Given the description of an element on the screen output the (x, y) to click on. 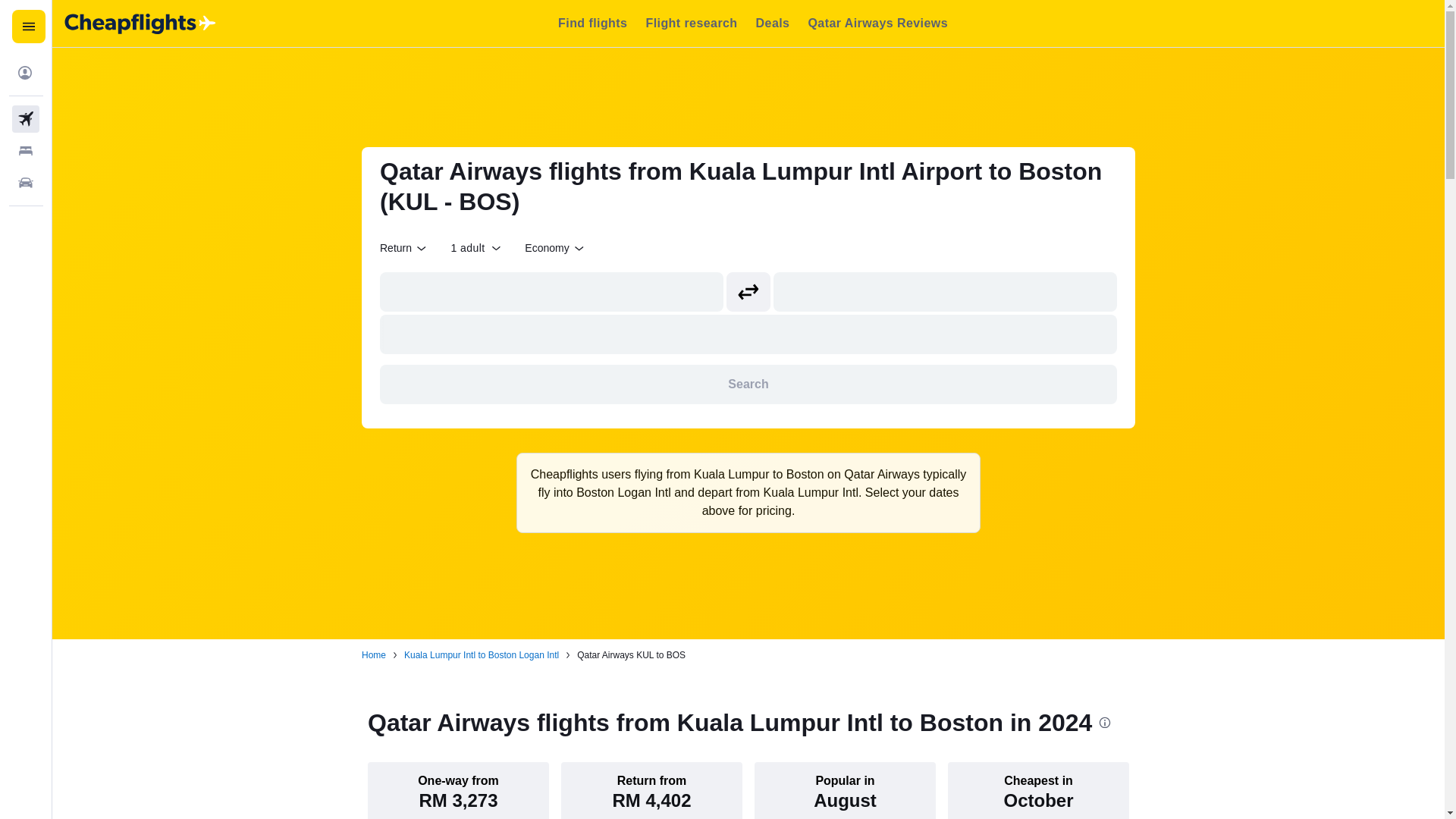
Kuala Lumpur Intl to Boston Logan Intl (481, 654)
August (844, 800)
RM 6,303 (1231, 800)
Search (748, 384)
Home (373, 654)
October (1038, 800)
RM 4,402 (650, 800)
Search (748, 384)
RM 3,273 (458, 800)
